Given the description of an element on the screen output the (x, y) to click on. 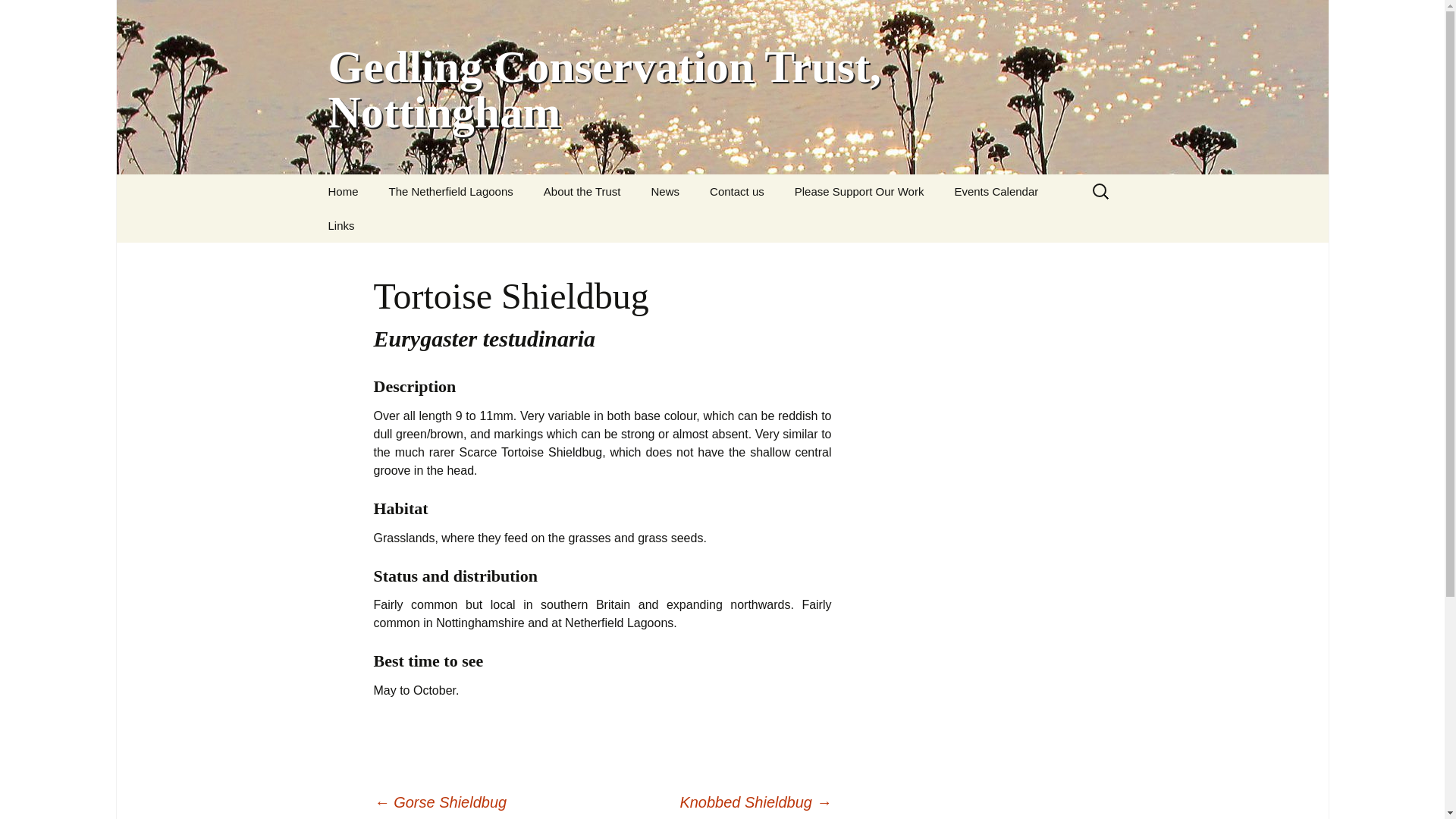
Home (342, 191)
The Netherfield Lagoons (451, 191)
Getting to the Lagoons (449, 225)
